Given the description of an element on the screen output the (x, y) to click on. 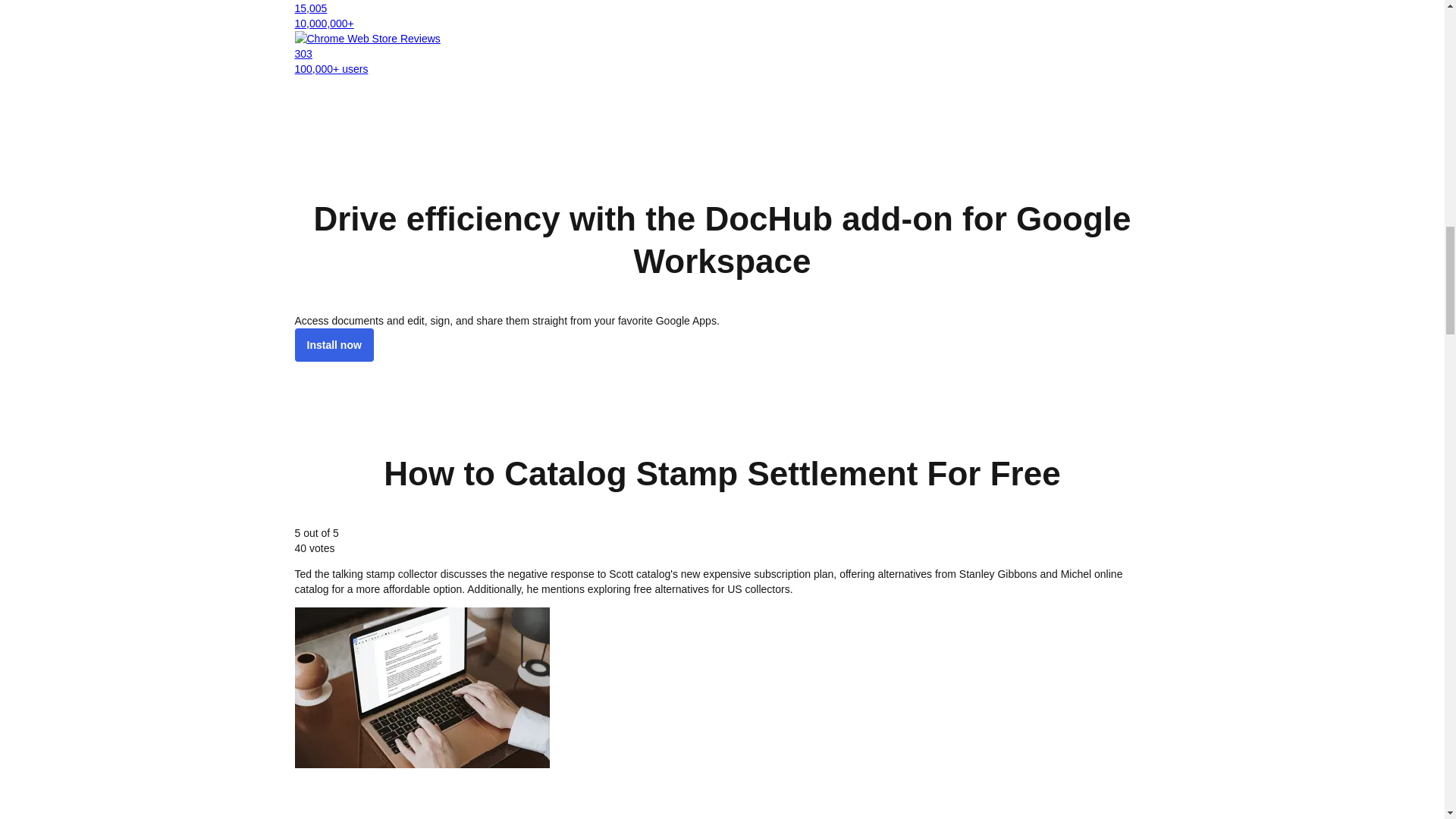
Install now (333, 344)
